Given the description of an element on the screen output the (x, y) to click on. 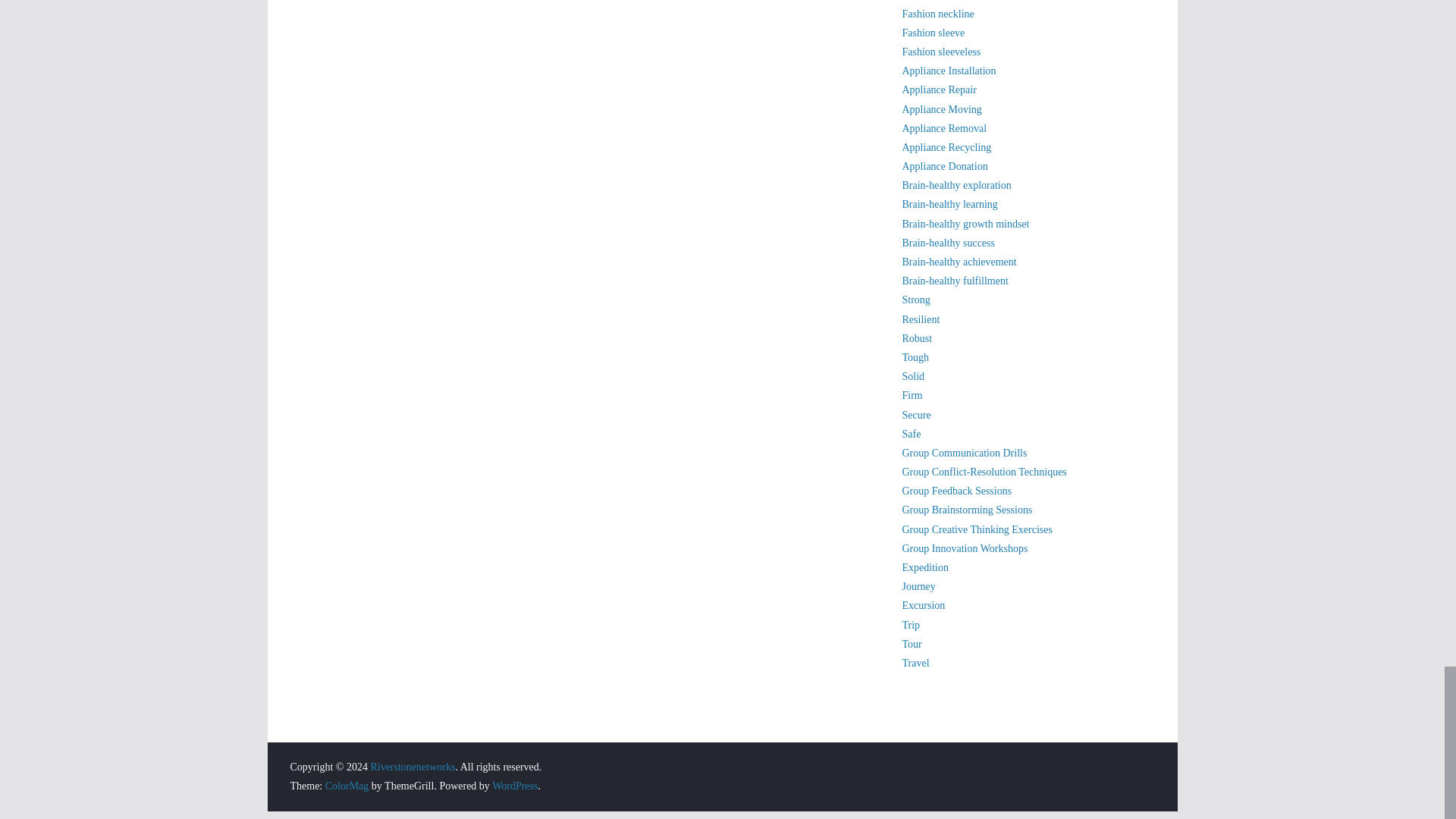
Riverstonenetworks (411, 767)
ColorMag (346, 785)
WordPress (514, 785)
